Given the description of an element on the screen output the (x, y) to click on. 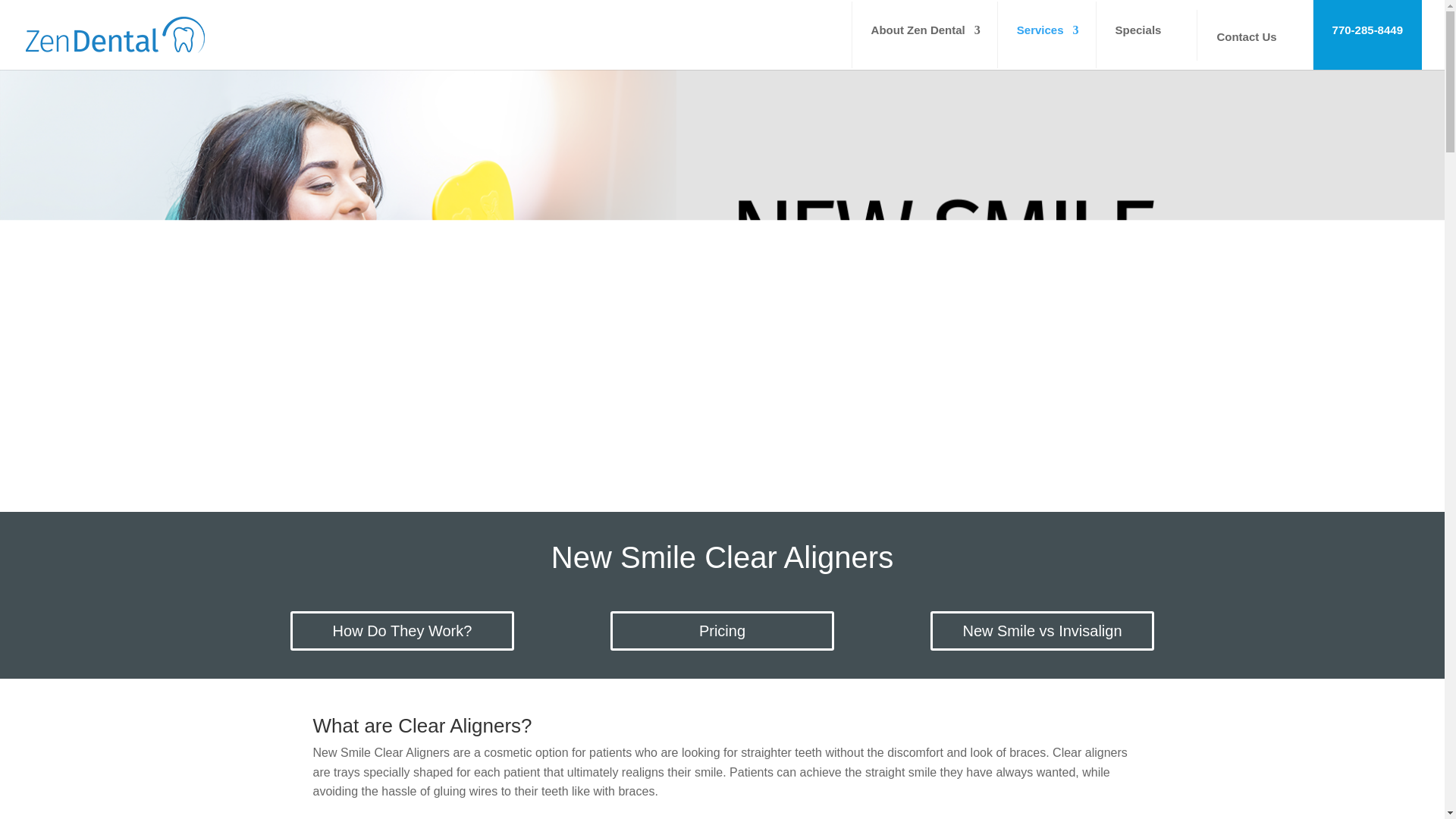
Contact Us (1245, 34)
New Smile vs Invisalign (1042, 630)
About Zen Dental (915, 34)
Specials (1138, 34)
770-285-8449 (1367, 34)
Pricing (722, 630)
How Do They Work? (401, 630)
Services (1037, 34)
